Given the description of an element on the screen output the (x, y) to click on. 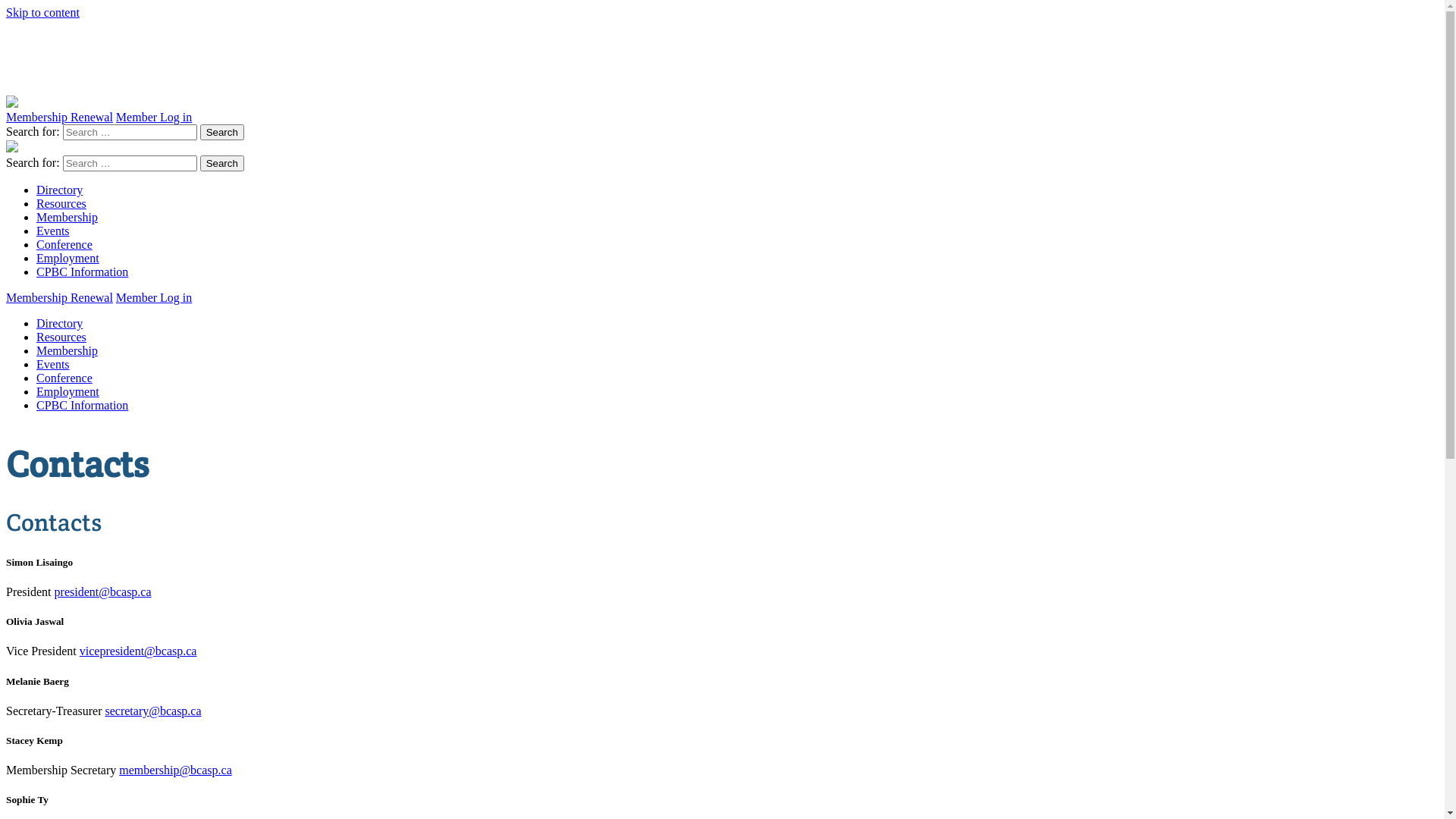
Skip to content Element type: text (42, 12)
Membership Renewal Element type: text (59, 116)
Membership Element type: text (66, 350)
Directory Element type: text (59, 322)
vicepresident@bcasp.ca Element type: text (138, 650)
Conference Element type: text (64, 244)
president@bcasp.ca Element type: text (102, 591)
CPBC Information Element type: text (82, 271)
Resources Element type: text (61, 203)
Directory Element type: text (59, 189)
Membership Element type: text (66, 216)
Membership Renewal Element type: text (59, 297)
CPBC Information Element type: text (82, 404)
Member Log in Element type: text (153, 116)
Events Element type: text (52, 230)
Events Element type: text (52, 363)
secretary@bcasp.ca Element type: text (152, 710)
Employment Element type: text (67, 391)
membership@bcasp.ca Element type: text (175, 769)
Resources Element type: text (61, 336)
Conference Element type: text (64, 377)
Search Element type: text (222, 132)
Search Element type: text (222, 163)
Employment Element type: text (67, 257)
Member Log in Element type: text (153, 297)
